Given the description of an element on the screen output the (x, y) to click on. 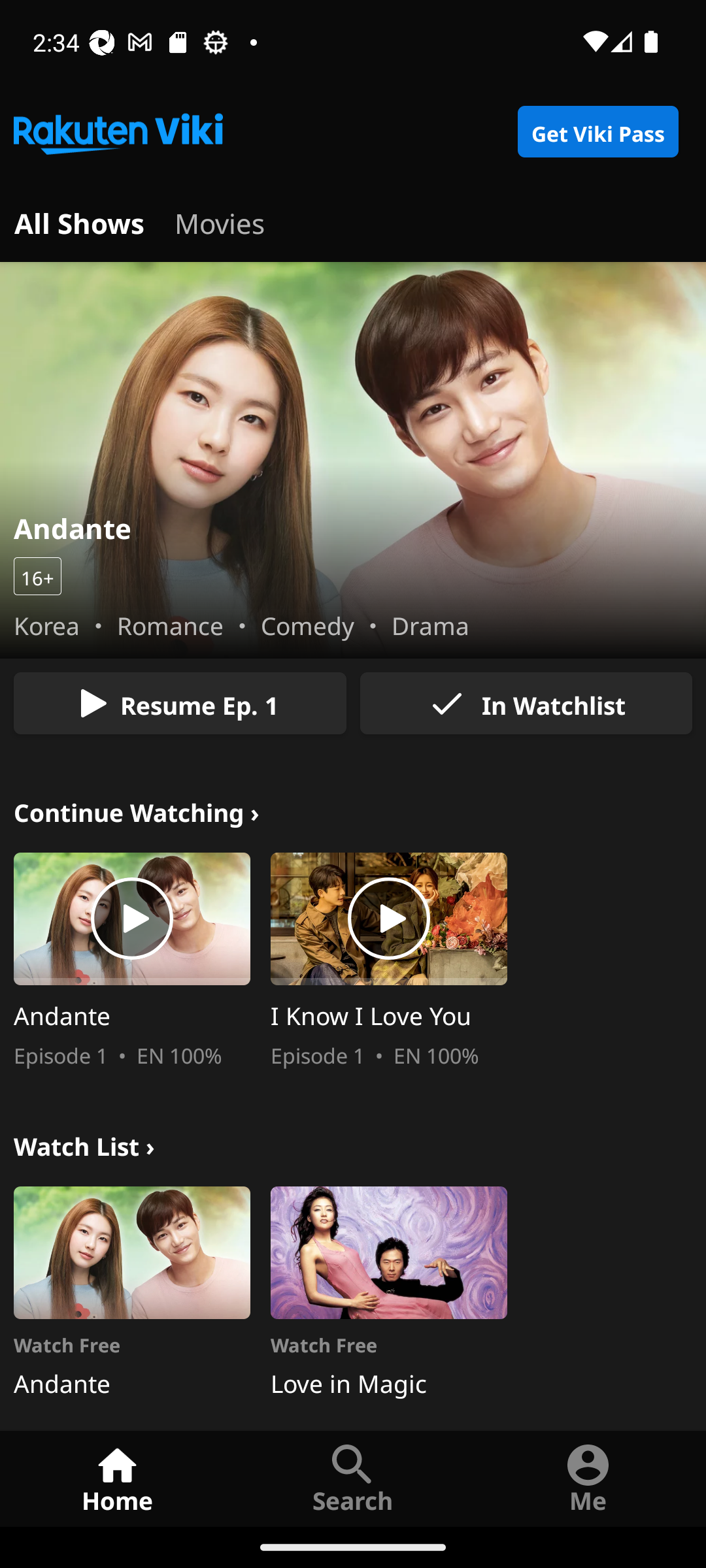
Get Viki Pass (597, 131)
home_tab_movies Movies (219, 220)
Resume Ep. 1 home_billboard_play_button (179, 702)
In Watchlist home_billboard_in_watchlist_button (526, 702)
Continue Watching › continue_watching (136, 809)
Watch List › watch_list (84, 1143)
Search (352, 1478)
Me (588, 1478)
